Given the description of an element on the screen output the (x, y) to click on. 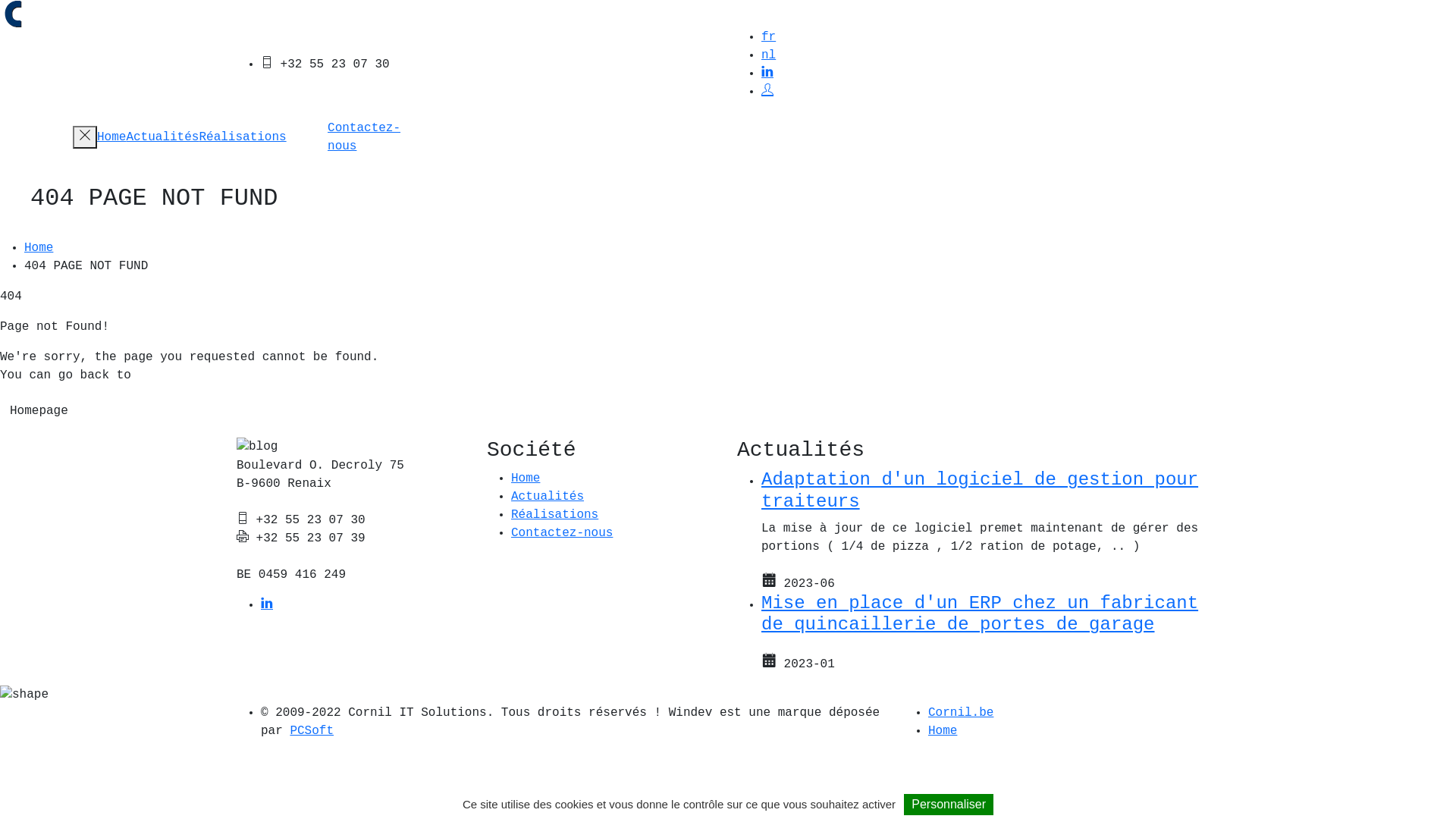
Adaptation d'un logiciel de gestion pour traiteurs Element type: text (979, 490)
Personnaliser Element type: text (948, 804)
Homepage Element type: text (39, 410)
fr Element type: text (768, 36)
Home Element type: text (525, 478)
Home Element type: text (942, 730)
Contactez-nous Element type: text (363, 137)
Home Element type: text (38, 247)
Cornil.be Element type: text (960, 712)
PCSoft Element type: text (311, 730)
nl Element type: text (768, 55)
Contactez-nous Element type: text (561, 532)
Home Element type: text (111, 137)
